Given the description of an element on the screen output the (x, y) to click on. 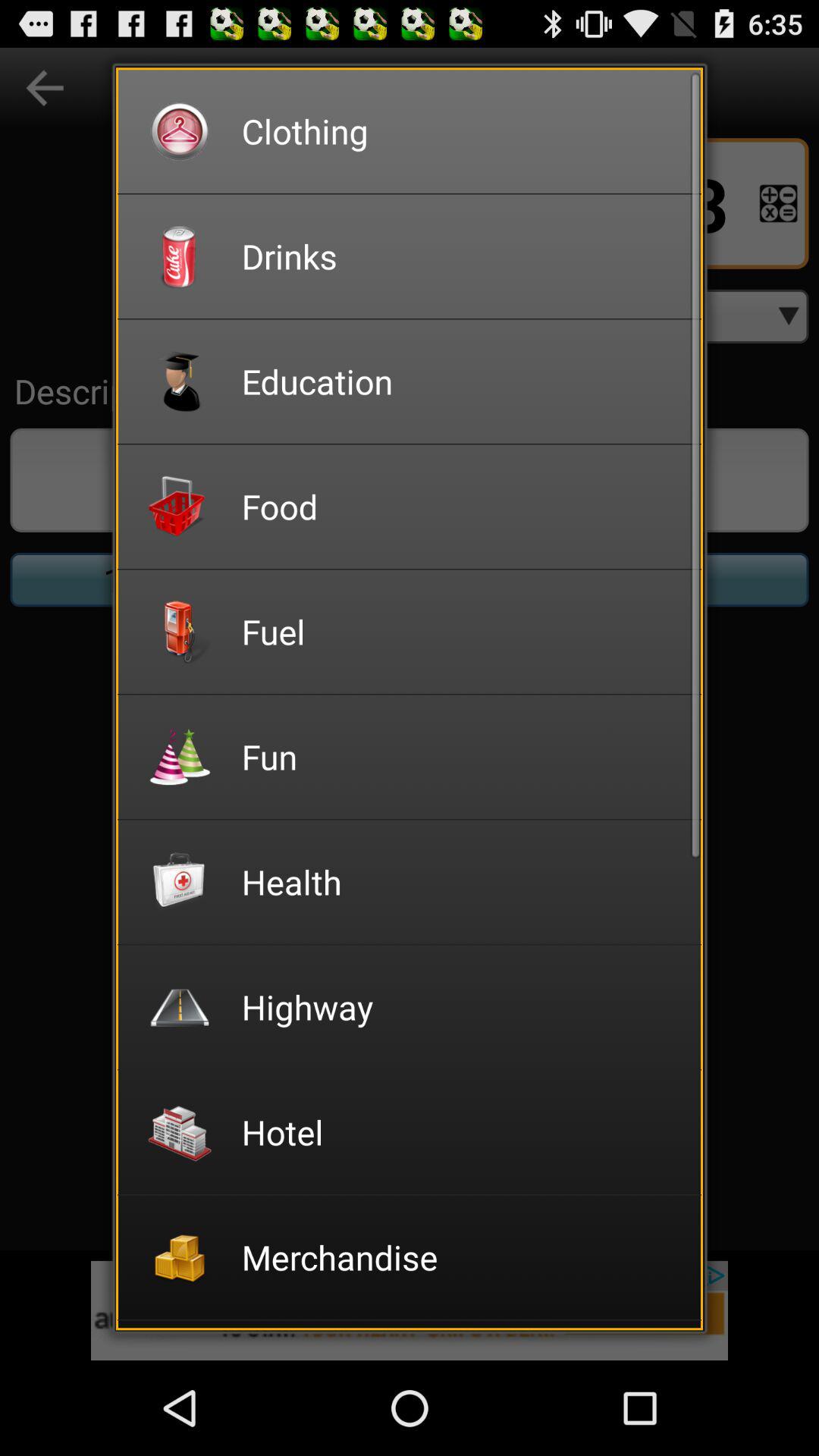
swipe until fuel item (461, 631)
